Given the description of an element on the screen output the (x, y) to click on. 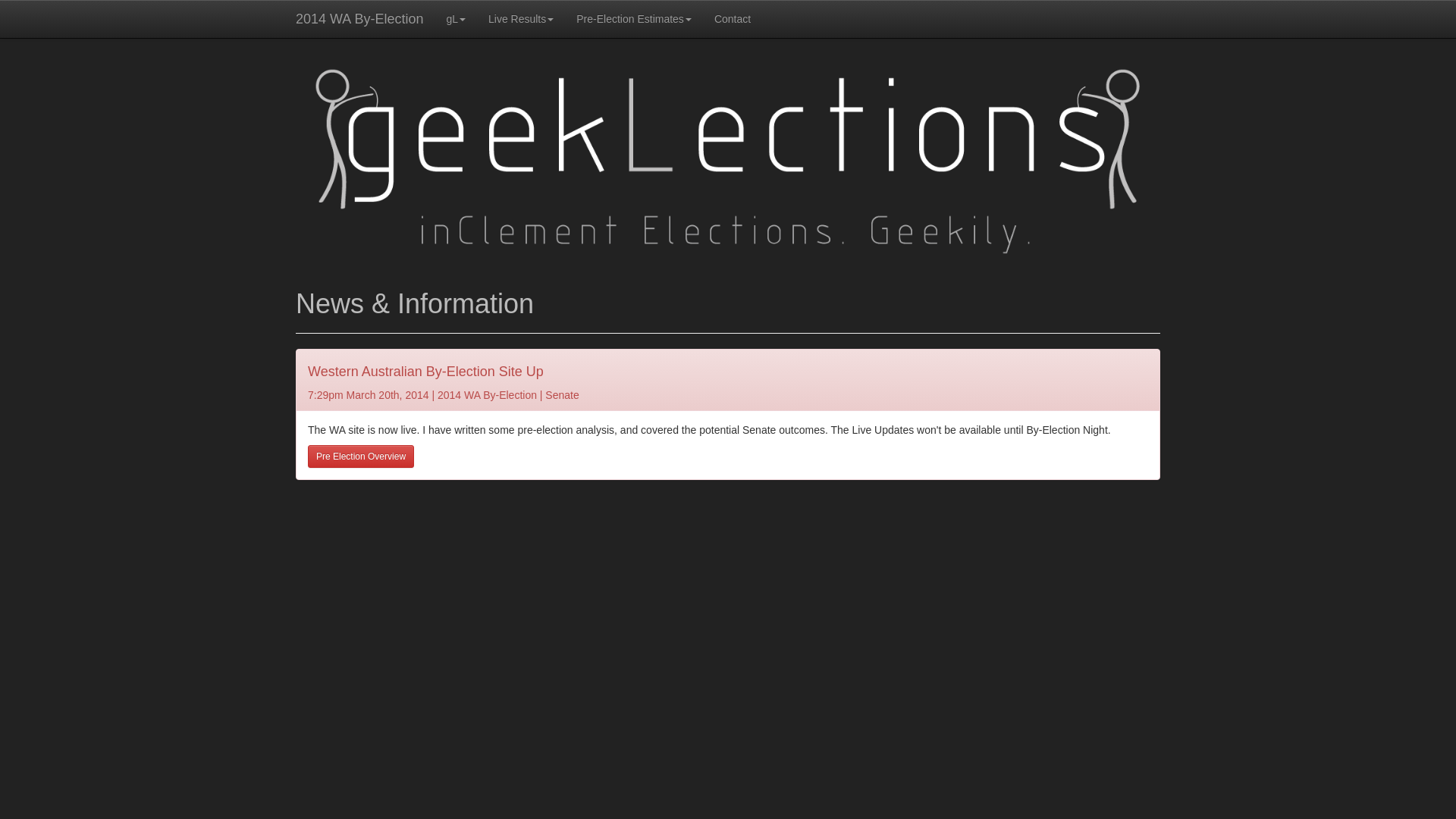
Pre-Election Estimates Element type: text (633, 18)
Contact Element type: text (732, 18)
Pre Election Overview Element type: text (360, 456)
2014 WA By-Election Element type: text (359, 18)
gL Element type: text (455, 18)
Live Results Element type: text (520, 18)
